Given the description of an element on the screen output the (x, y) to click on. 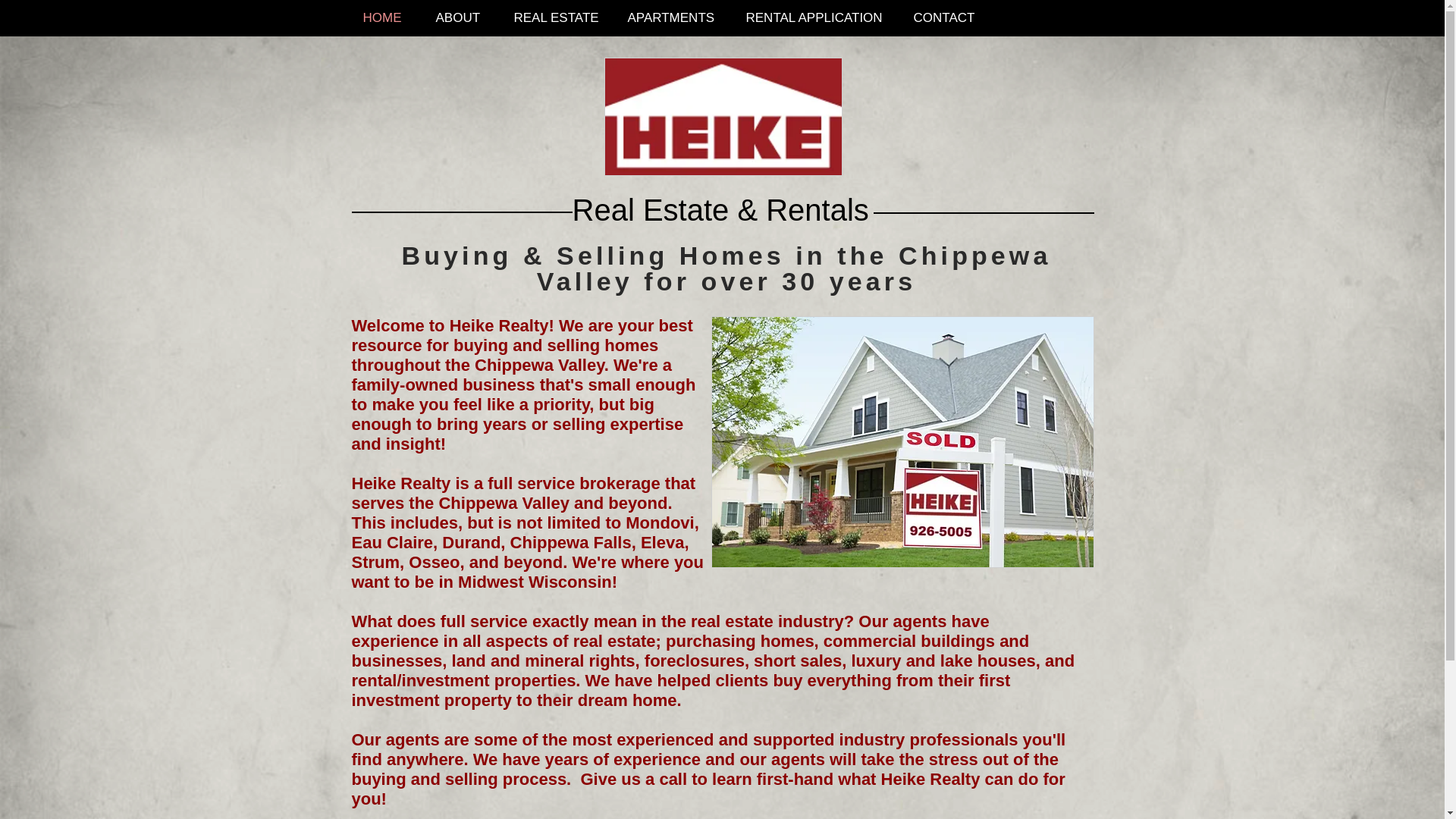
APARTMENTS (674, 18)
ABOUT (463, 18)
REAL ESTATE (558, 18)
HOME (388, 18)
CONTACT (949, 18)
RENTAL APPLICATION (817, 18)
